Given the description of an element on the screen output the (x, y) to click on. 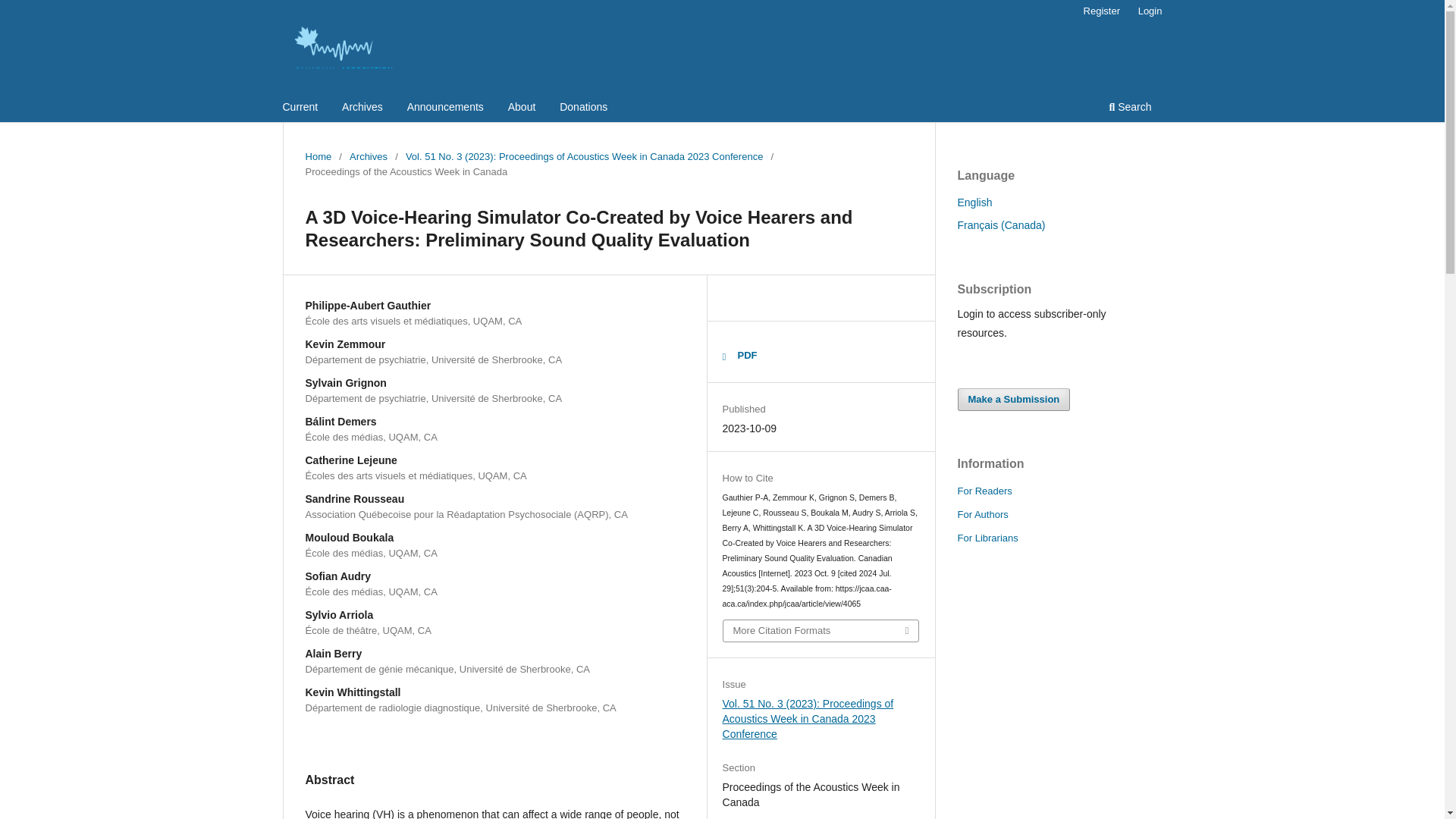
About (521, 108)
Archives (368, 156)
Register (1100, 11)
Announcements (445, 108)
Archives (362, 108)
Home (317, 156)
Current (300, 108)
Donations (583, 108)
Search (1129, 108)
More Citation Formats (820, 630)
PDF (739, 354)
Login (1150, 11)
